Given the description of an element on the screen output the (x, y) to click on. 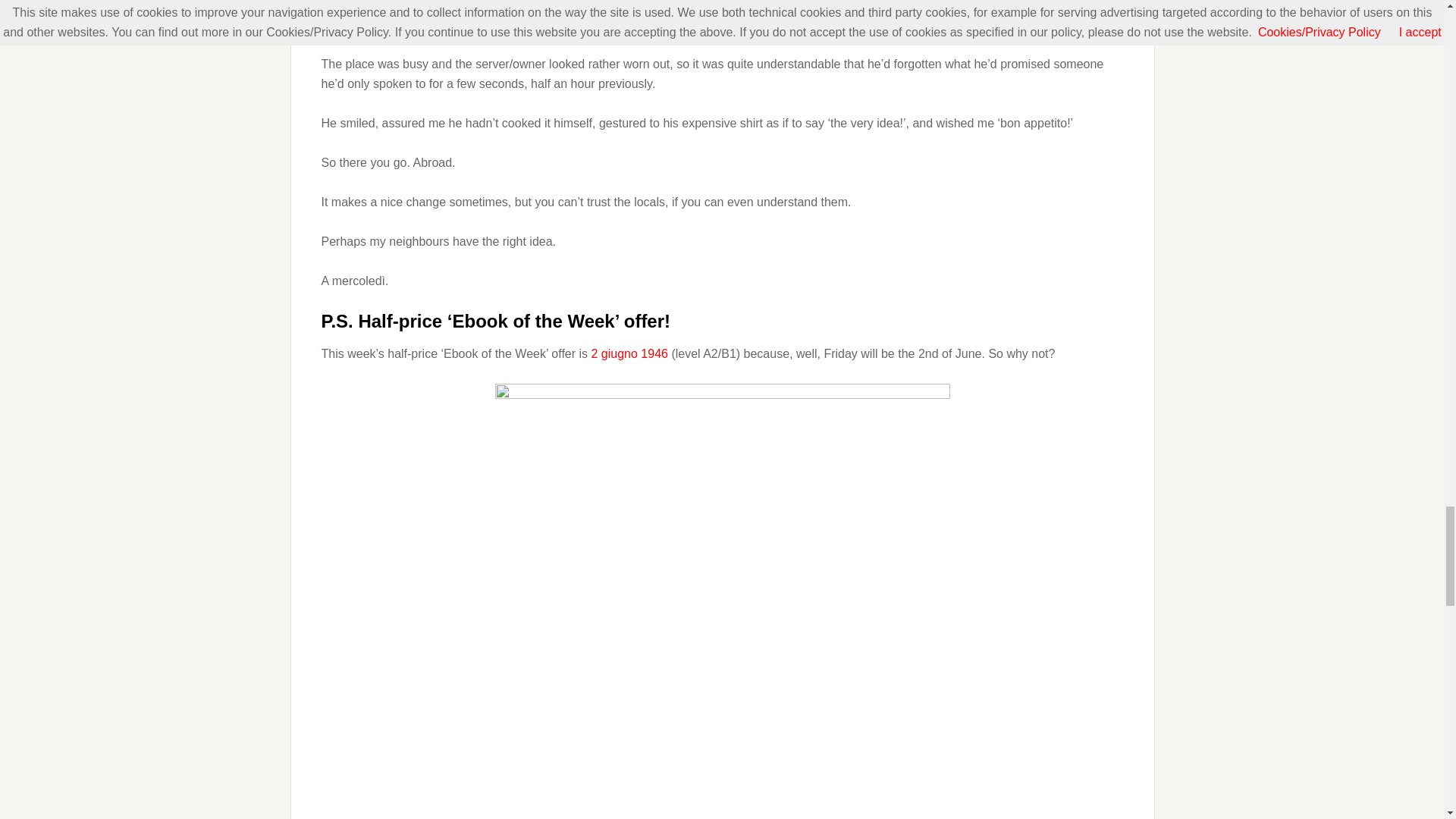
2 giugno 1946 (629, 353)
